Given the description of an element on the screen output the (x, y) to click on. 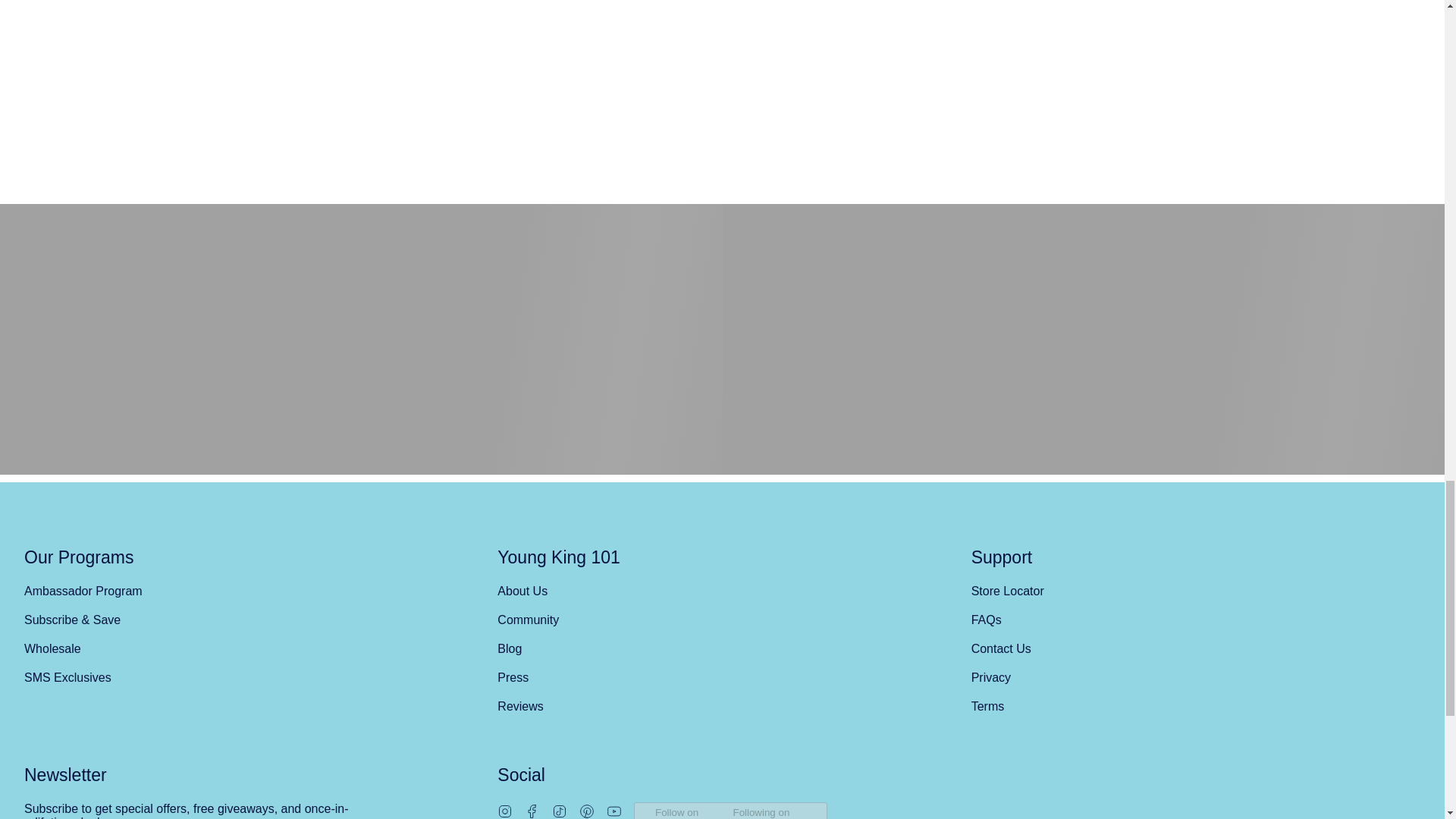
Young King Hair Care on Facebook (532, 809)
Young King Hair Care on TikTok (559, 809)
Young King Hair Care on Pinterest (586, 809)
Young King Hair Care on YouTube (614, 809)
Young King Hair Care on Instagram (504, 809)
